Given the description of an element on the screen output the (x, y) to click on. 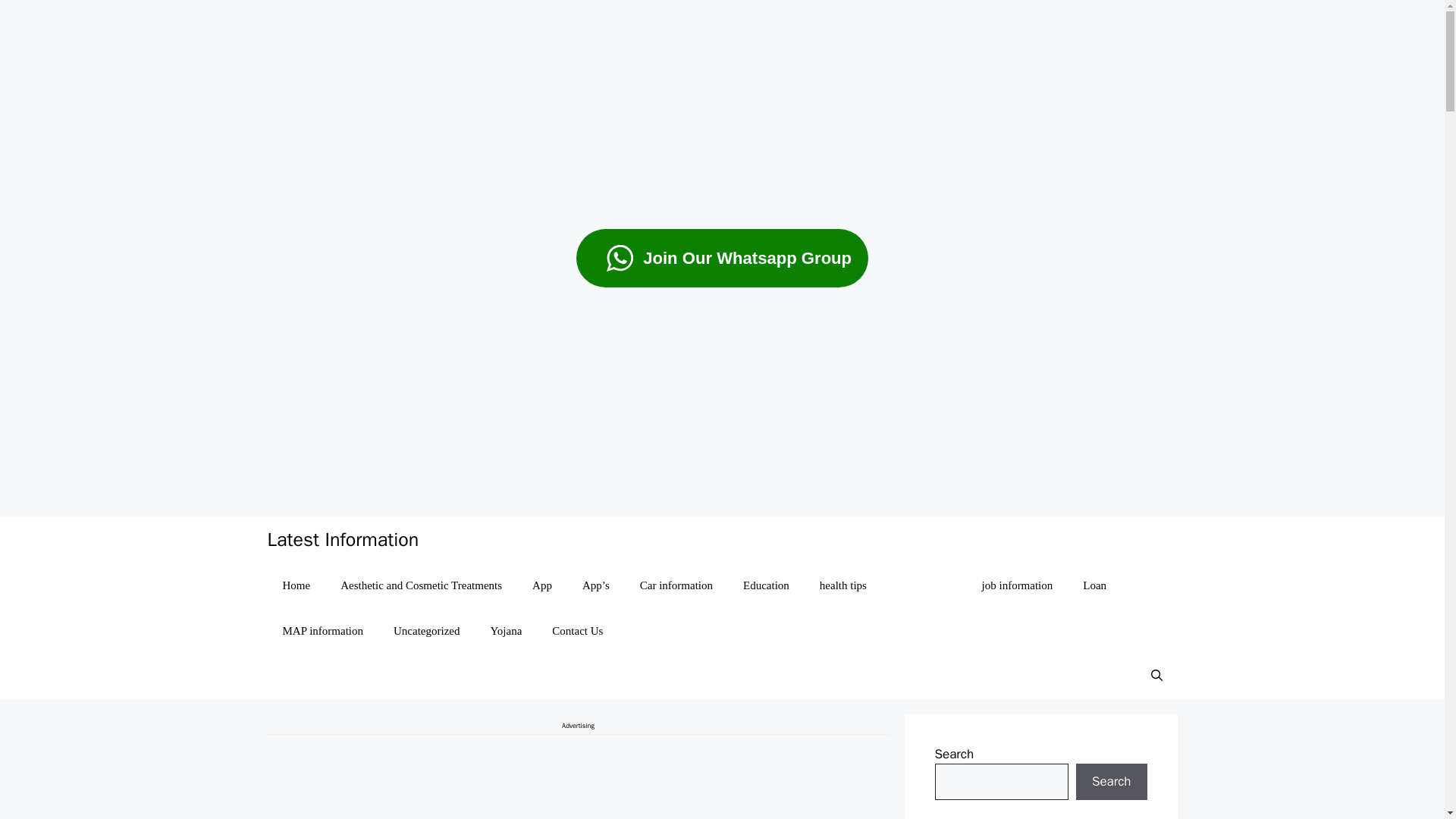
Search (1111, 781)
job information (1017, 585)
App (541, 585)
Latest Information (342, 539)
Uncategorized (426, 630)
Car information (676, 585)
Advertisement (577, 777)
Loan (1094, 585)
Aesthetic and Cosmetic Treatments (420, 585)
Join Our Whatsapp Group (721, 258)
MAP information (322, 630)
Home (295, 585)
Yojana (505, 630)
health tips (843, 585)
